Given the description of an element on the screen output the (x, y) to click on. 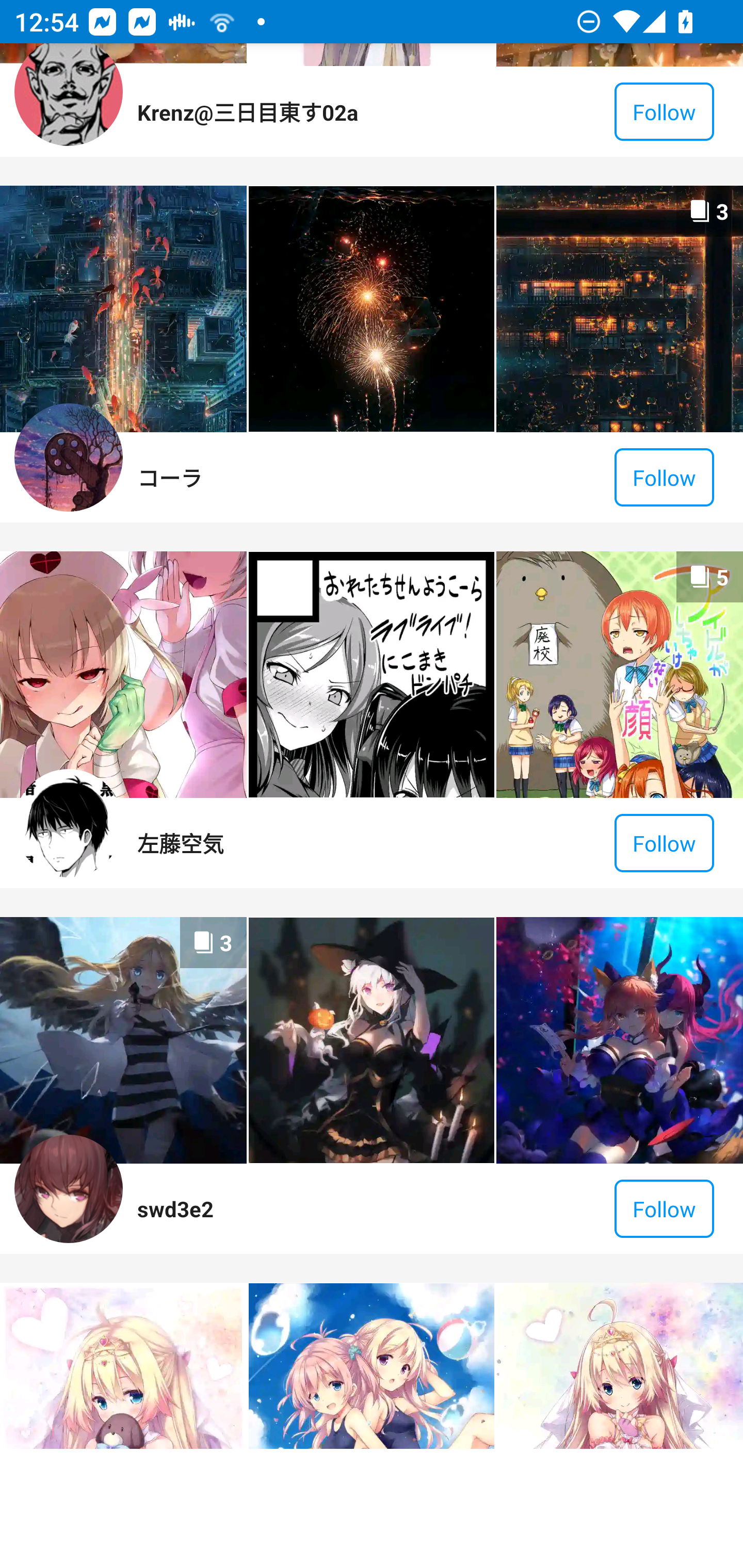
Krenz@三日目東す02a (247, 111)
Follow (664, 112)
3 (619, 308)
コーラ (169, 477)
Follow (664, 477)
5 (619, 674)
左藤空気 (180, 842)
Follow (664, 842)
3 (123, 1040)
swd3e2 (175, 1208)
Follow (664, 1208)
